Given the description of an element on the screen output the (x, y) to click on. 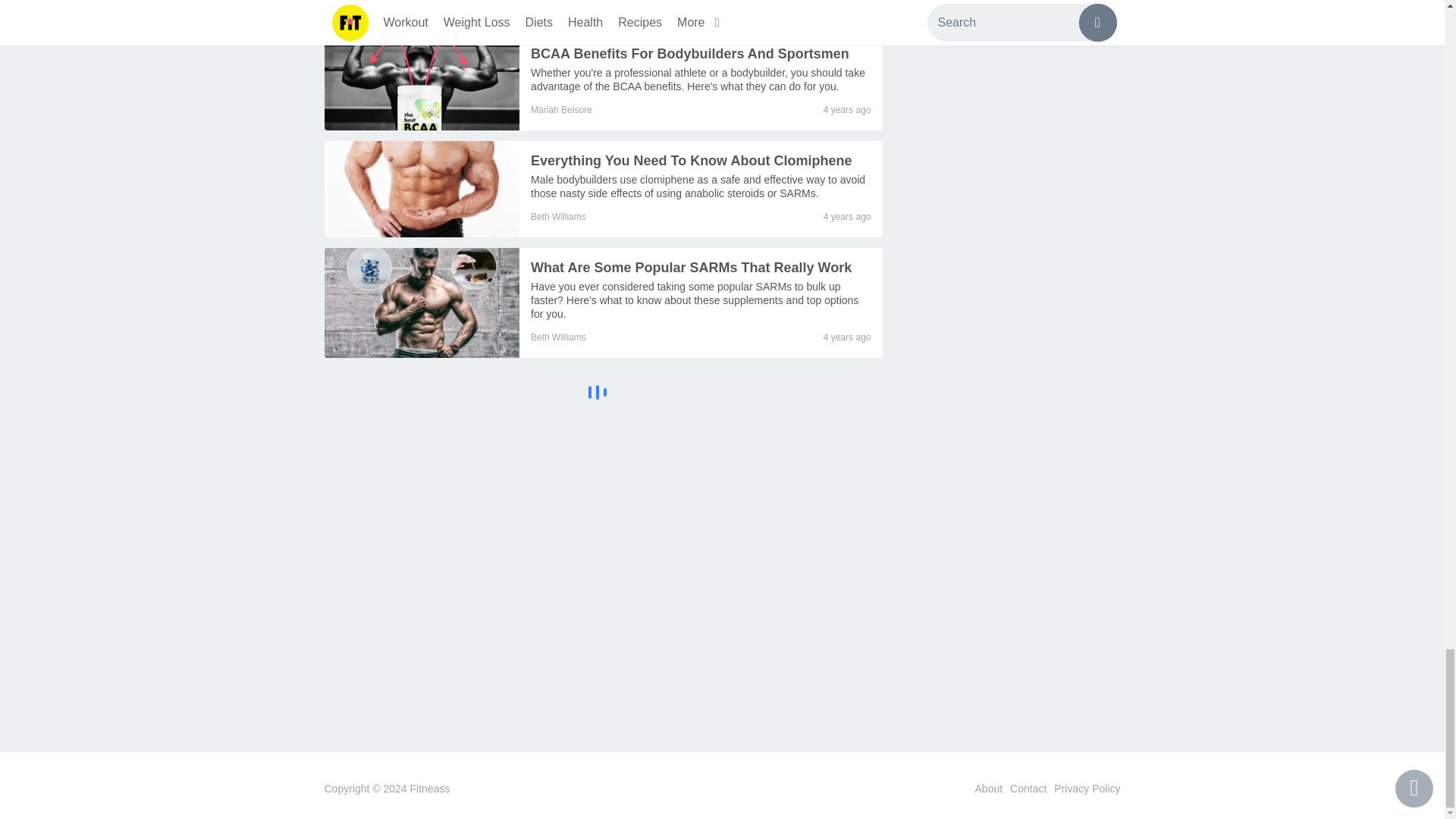
Searching for more related posts... (603, 394)
Searching for more related posts... (597, 391)
